Given the description of an element on the screen output the (x, y) to click on. 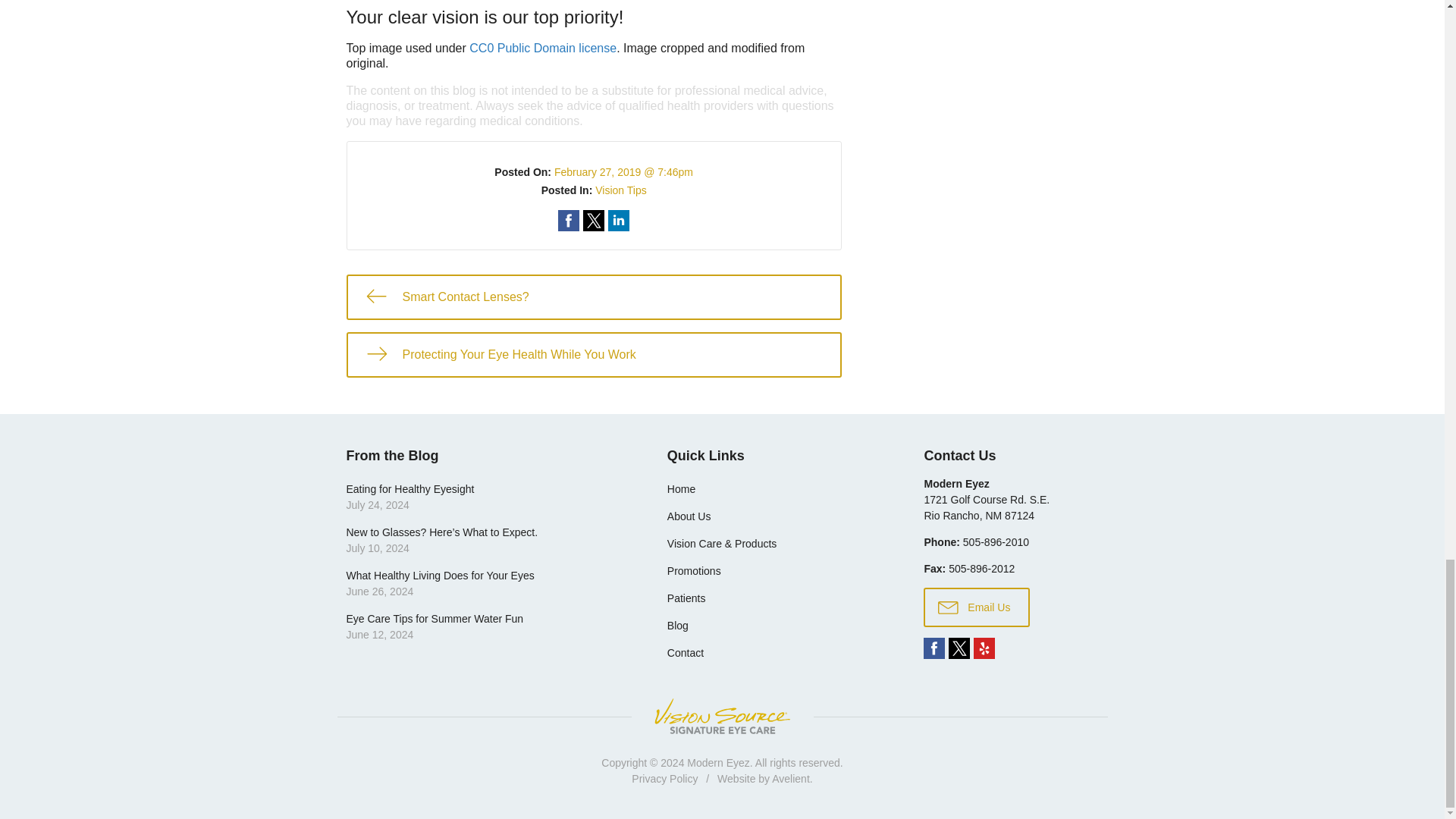
Share on LinkedIn (618, 219)
Contact practice (995, 541)
Vision Tips (620, 190)
Powered by Avelient (790, 778)
Go to our Twitter Account (959, 648)
Smart Contact Lenses? (593, 297)
Share on Facebook (568, 219)
Open this address in Google Maps (986, 507)
CC0 Public Domain license (541, 47)
Share on Facebook (568, 219)
Share on LinkedIn (618, 219)
Share on Twitter (593, 219)
Go to our Yelp Page (984, 648)
Share on Twitter (593, 219)
Protecting Your Eye Health While You Work (593, 354)
